Given the description of an element on the screen output the (x, y) to click on. 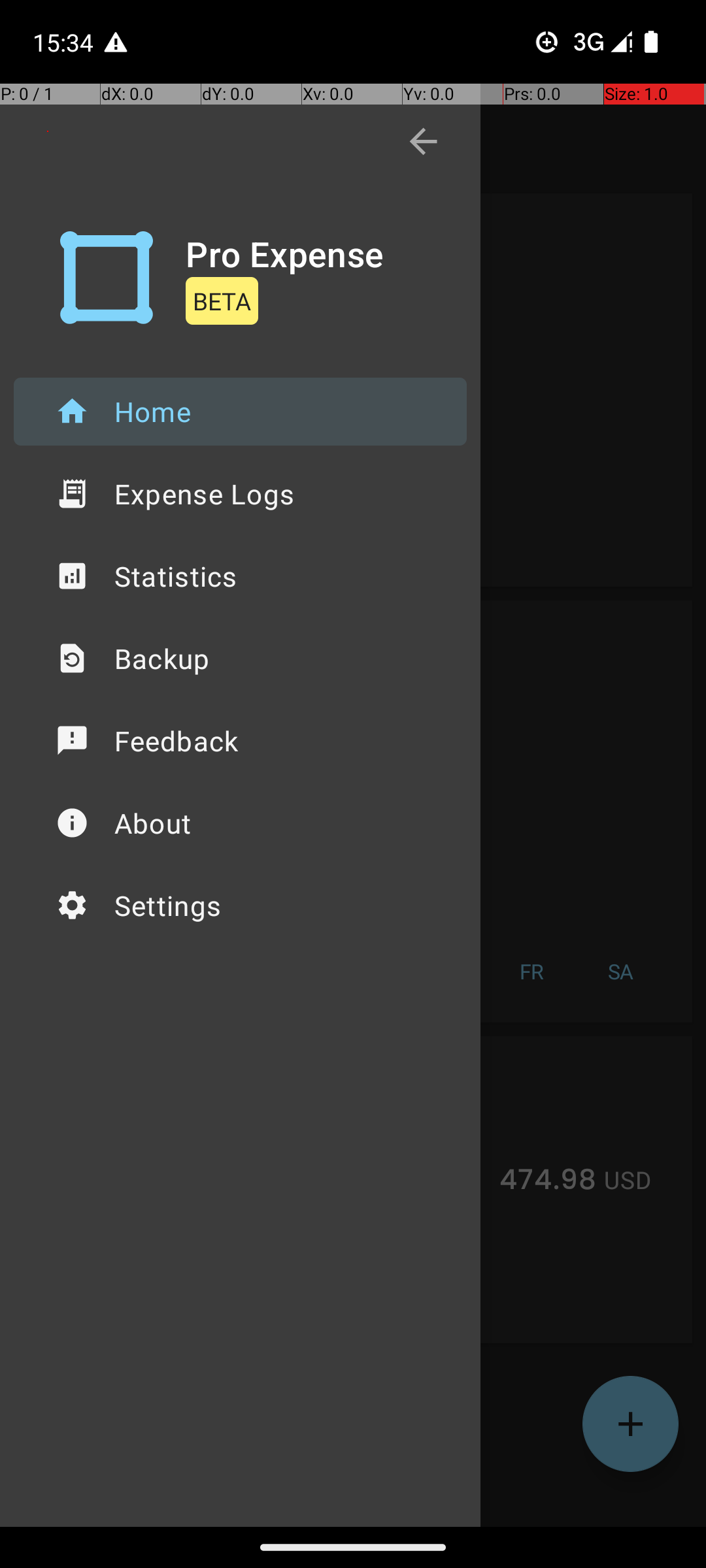
Pro Expense Element type: android.widget.TextView (284, 253)
BETA Element type: android.widget.TextView (221, 300)
Expense Logs Element type: android.widget.CheckedTextView (239, 493)
Statistics Element type: android.widget.CheckedTextView (239, 576)
Backup Element type: android.widget.CheckedTextView (239, 658)
Feedback Element type: android.widget.CheckedTextView (239, 740)
About Element type: android.widget.CheckedTextView (239, 823)
